Given the description of an element on the screen output the (x, y) to click on. 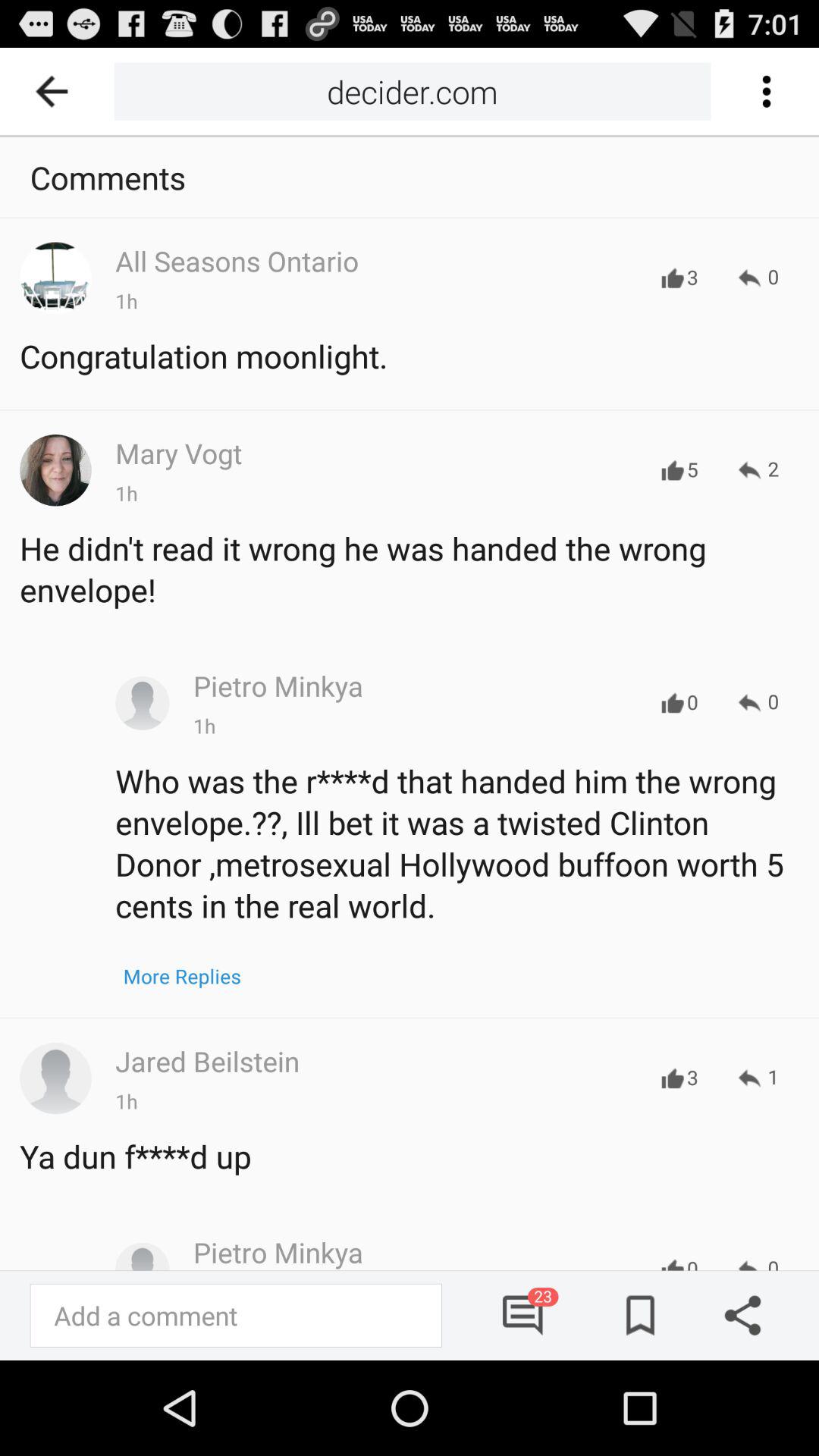
view profile of pietro minkya (142, 703)
